Given the description of an element on the screen output the (x, y) to click on. 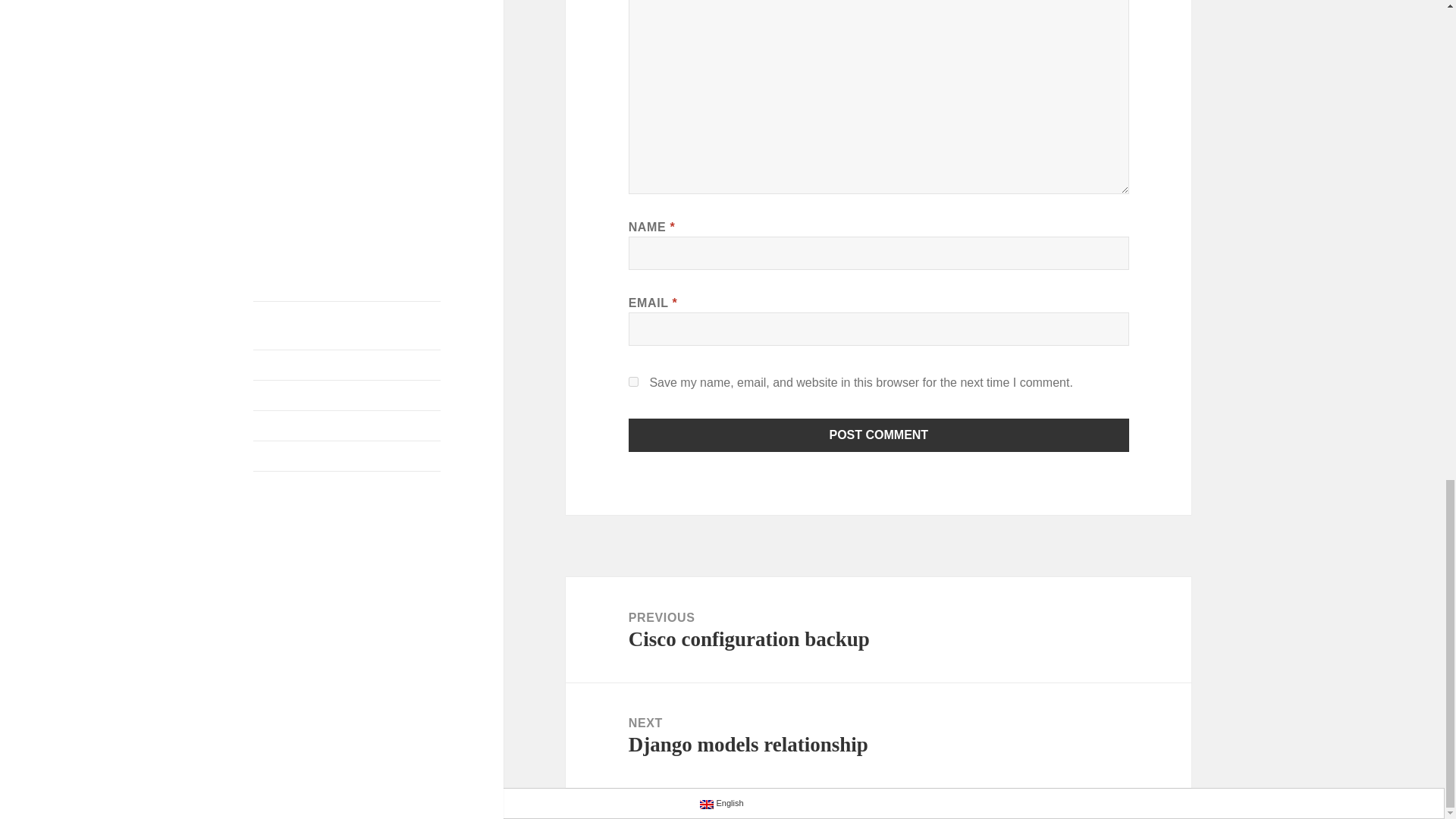
yes (633, 381)
 English (722, 802)
English (878, 735)
Post Comment (706, 804)
Post Comment (878, 629)
